Given the description of an element on the screen output the (x, y) to click on. 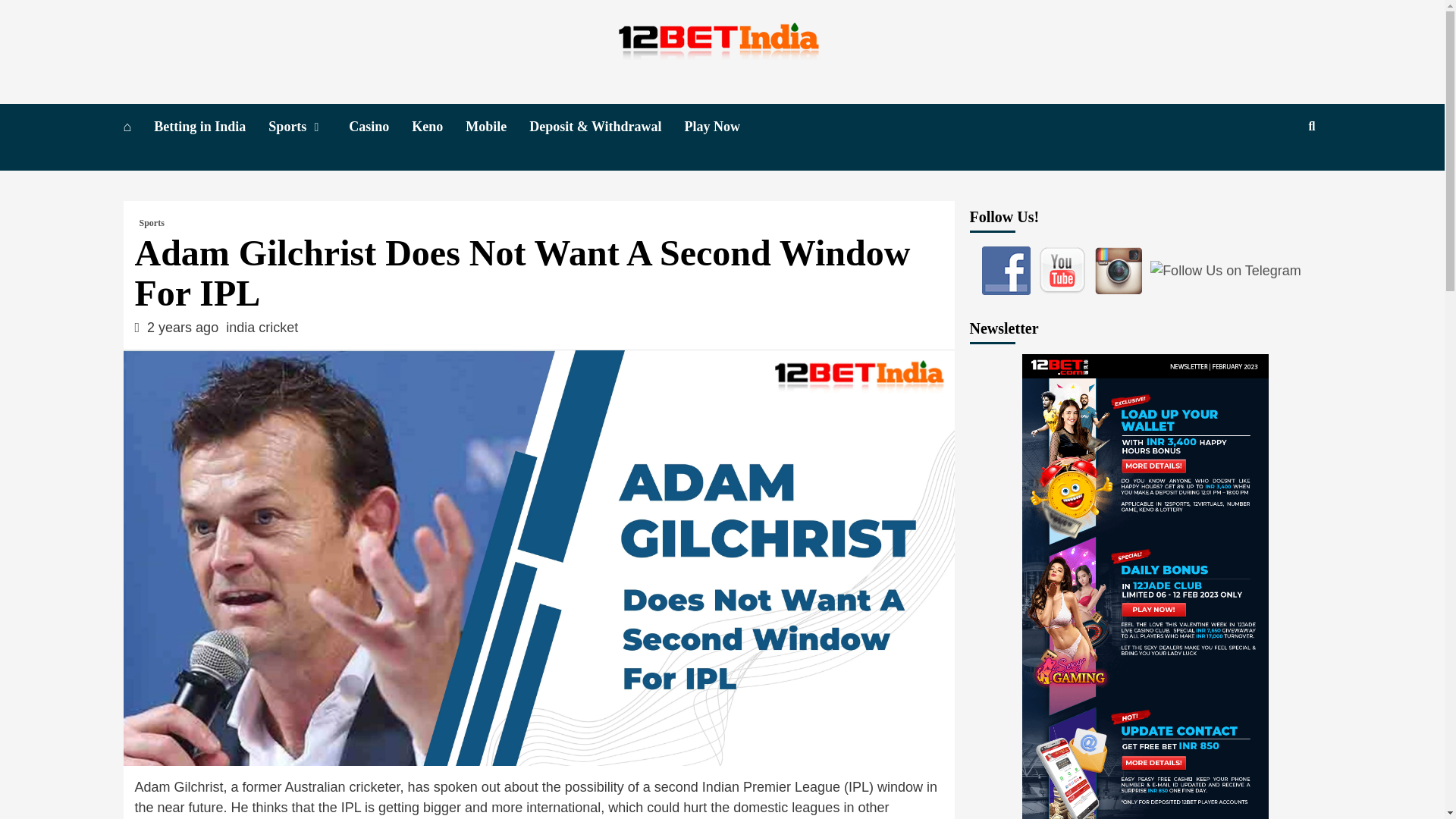
Mobile (497, 126)
Follow Us on Instagram (1118, 270)
india cricket (261, 327)
Sports (151, 223)
Keno (438, 126)
Betting in India (210, 126)
Follow Us on YouTube (1062, 270)
Follow Us on Telegram (1225, 271)
Play Now (723, 126)
Sports (308, 126)
